Given the description of an element on the screen output the (x, y) to click on. 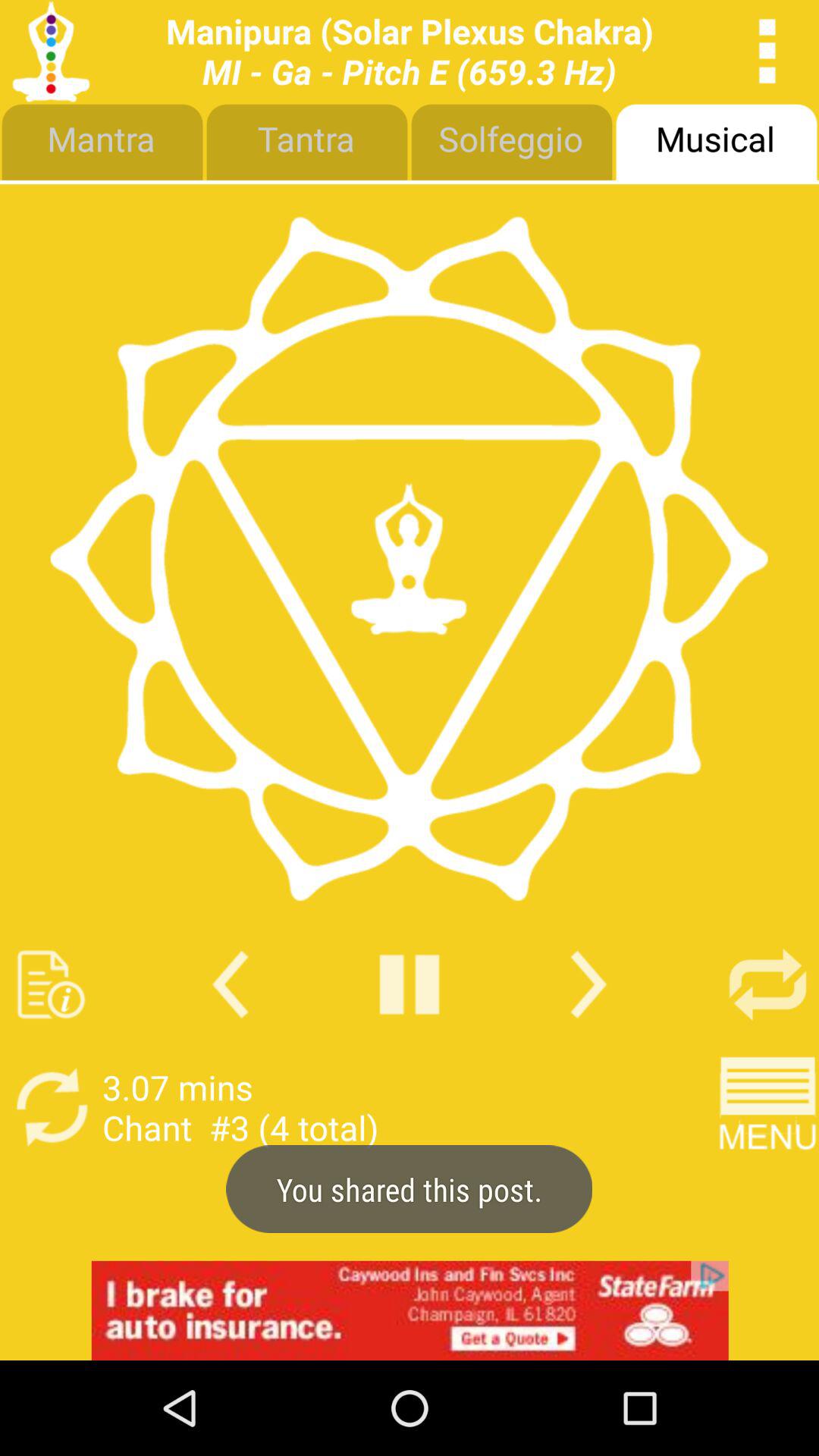
pause (409, 984)
